Given the description of an element on the screen output the (x, y) to click on. 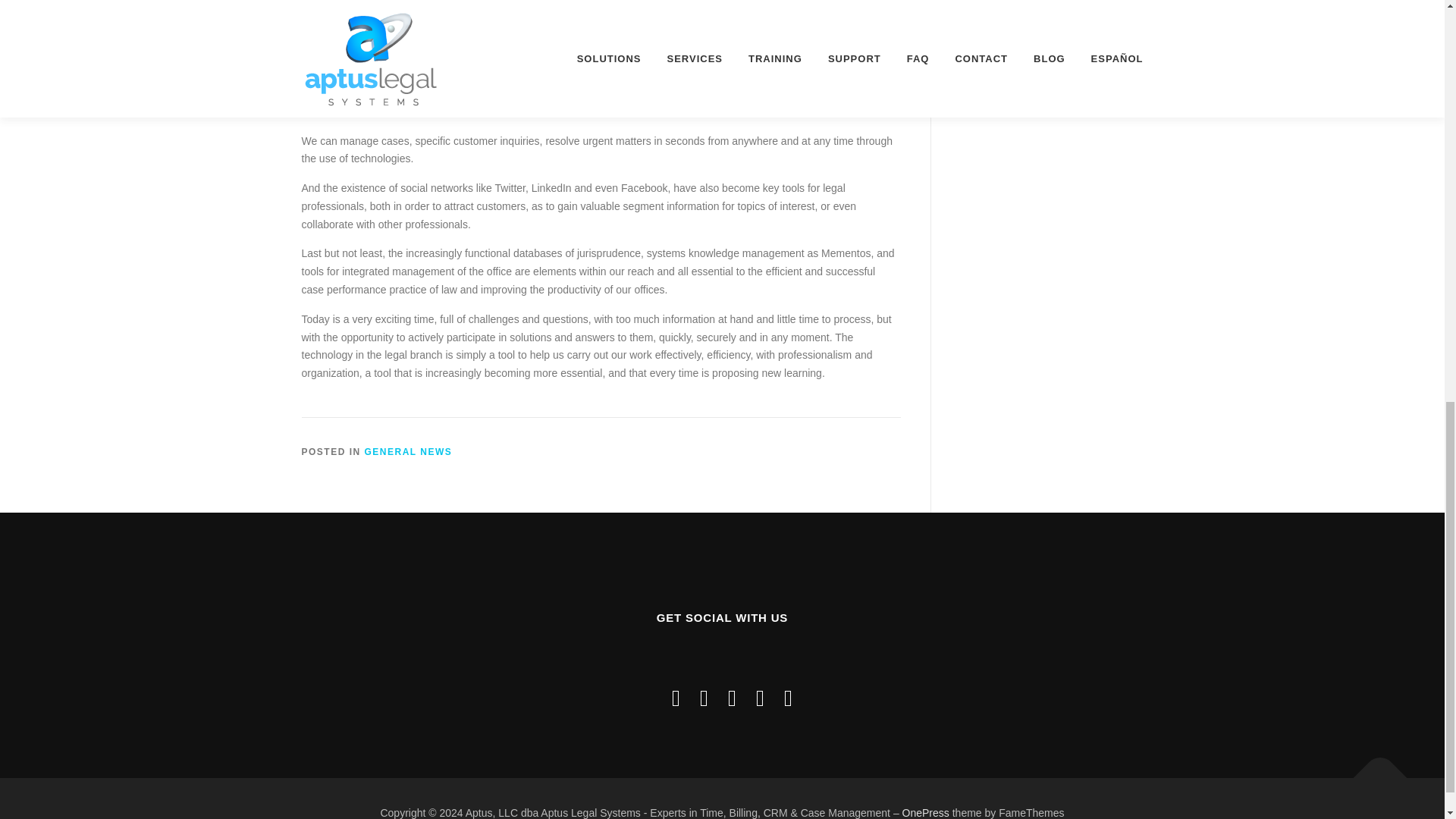
Back To Top (1372, 770)
GENERAL NEWS (408, 451)
GET SOCIAL WITH US (721, 657)
